Given the description of an element on the screen output the (x, y) to click on. 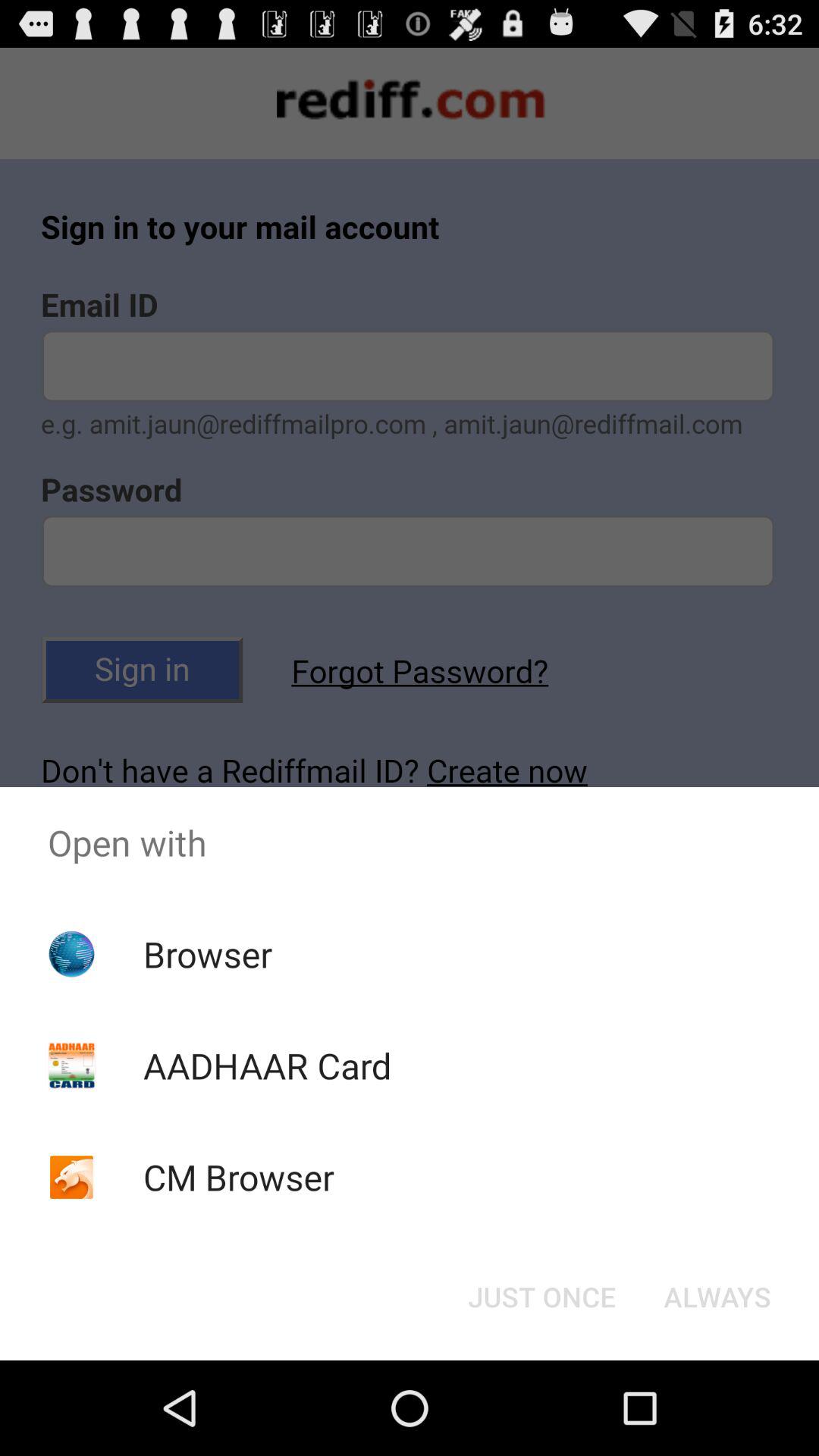
click the app above cm browser (267, 1065)
